Given the description of an element on the screen output the (x, y) to click on. 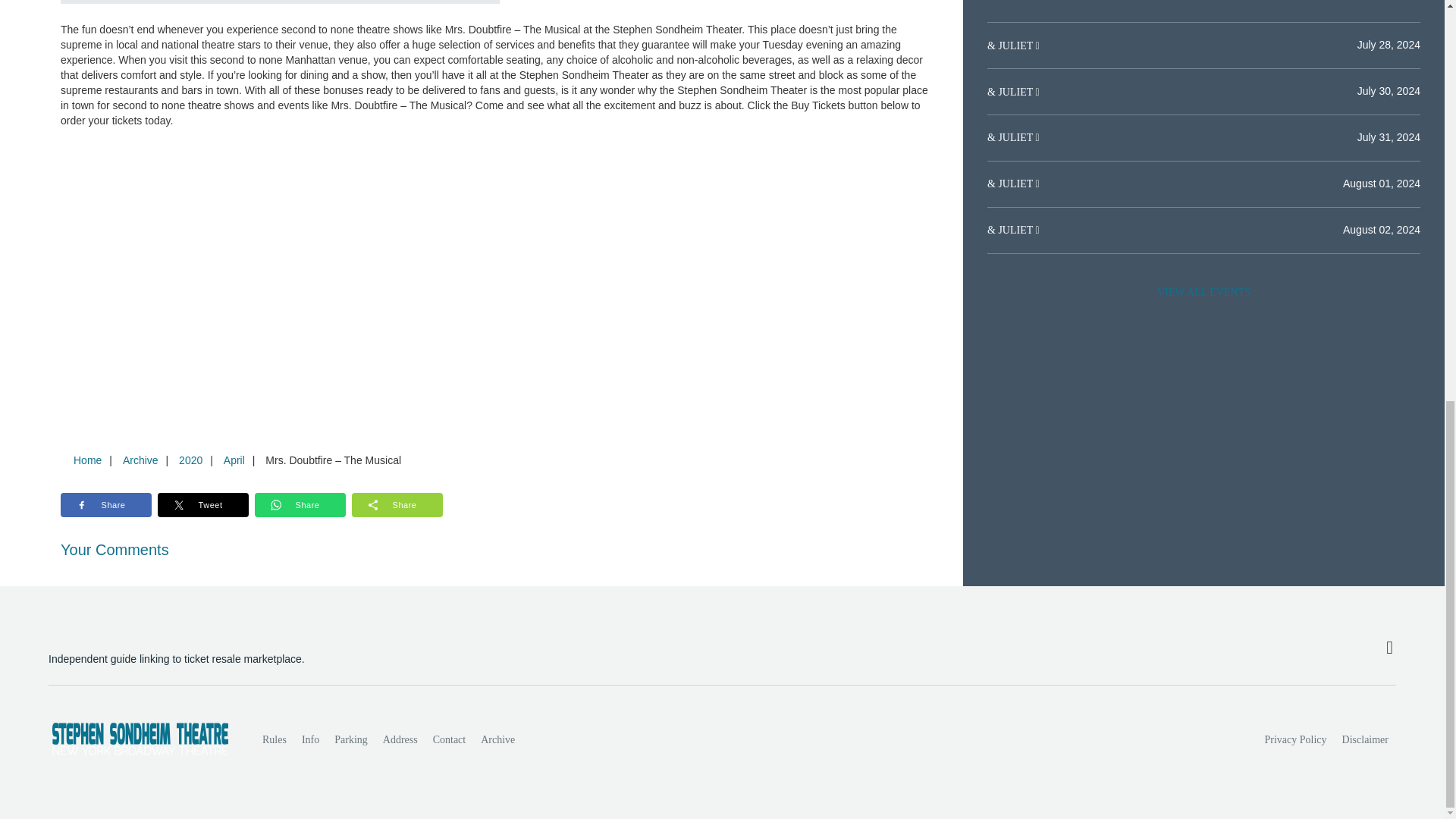
April (233, 460)
VIEW ALL EVENTS (1203, 292)
Privacy Policy (1296, 739)
Home (87, 460)
Rules (274, 739)
2020 (190, 460)
Parking (350, 739)
Disclaimer (1365, 739)
Archive (497, 739)
Archive (140, 460)
Contact (449, 739)
Address (400, 739)
Info (310, 739)
